Given the description of an element on the screen output the (x, y) to click on. 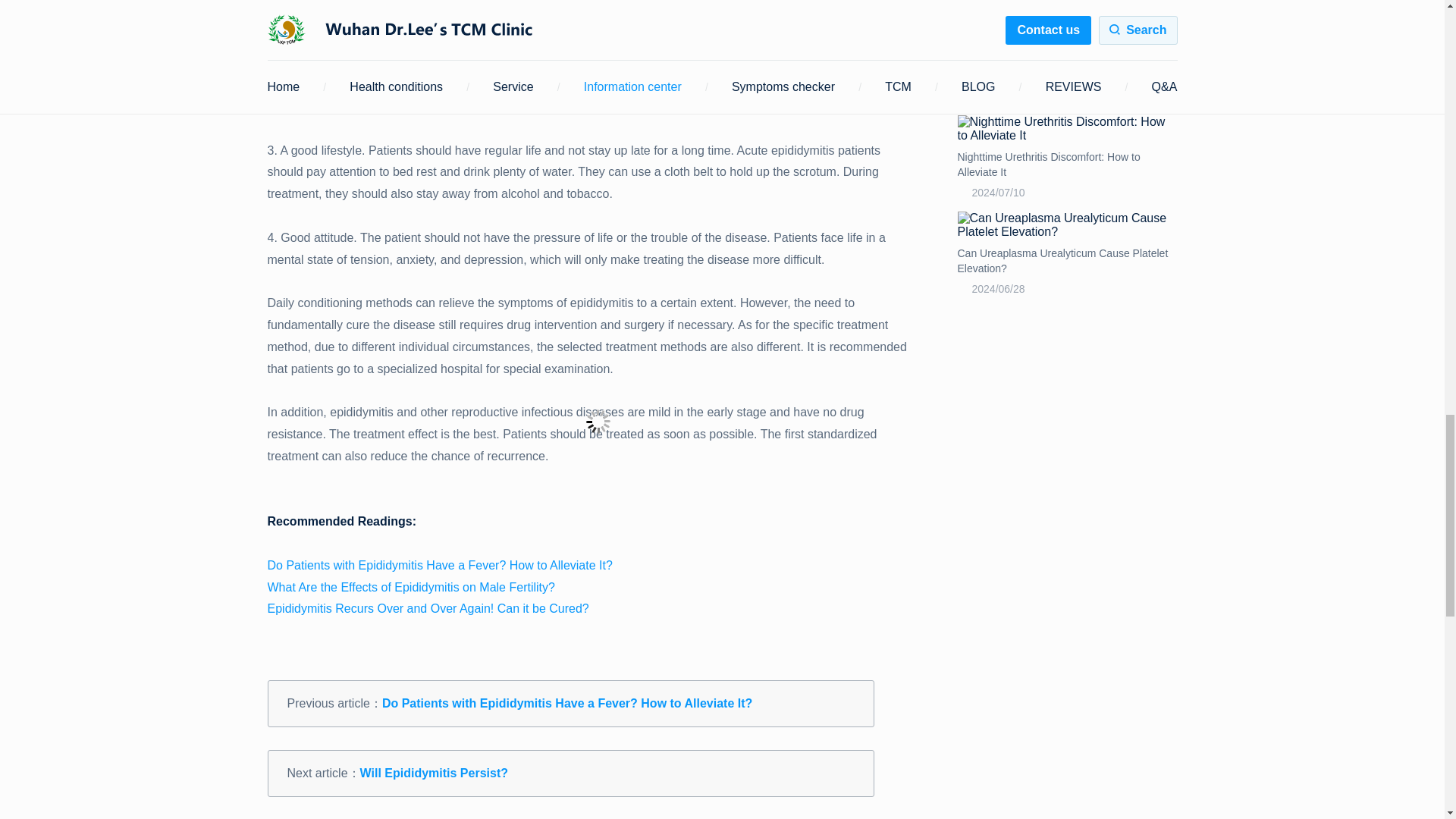
Nighttime Urethritis Discomfort: How to Alleviate It (1066, 128)
Will Epididymitis Persist? (433, 772)
Nighttime Urethritis Discomfort: How to Alleviate It (1066, 164)
Can Ureaplasma Urealyticum Cause Platelet Elevation? (1066, 261)
Can Ureaplasma Urealyticum Cause Platelet Elevation? (1066, 225)
